Given the description of an element on the screen output the (x, y) to click on. 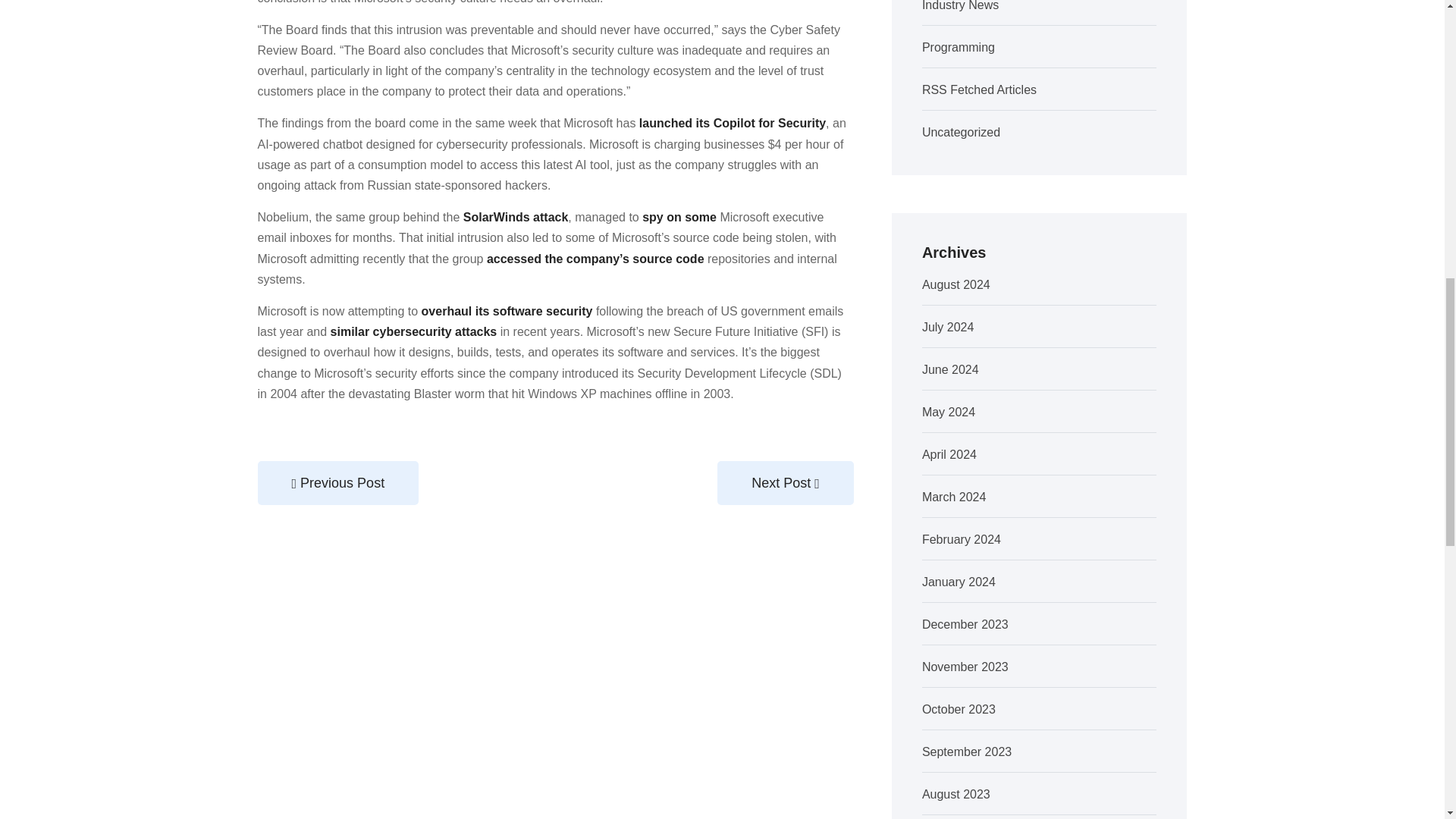
February 2024 (961, 539)
April 2024 (948, 454)
June 2024 (949, 369)
Programming (957, 47)
Next Post (785, 483)
RSS Fetched Articles (978, 89)
August 2024 (955, 284)
SolarWinds attack (516, 216)
Industry News (959, 5)
March 2024 (954, 496)
